Given the description of an element on the screen output the (x, y) to click on. 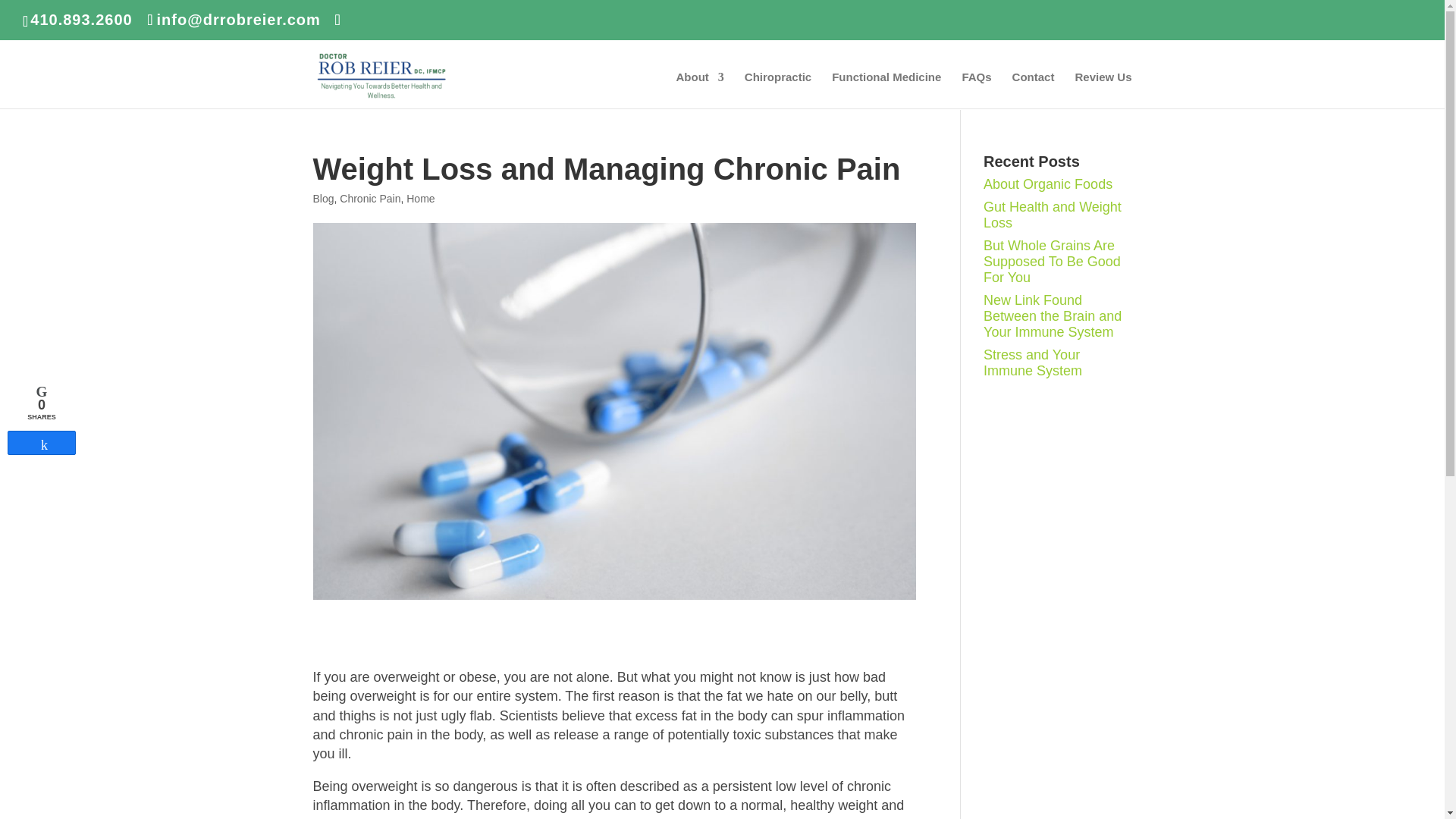
Stress and Your Immune System (1032, 362)
Gut Health and Weight Loss (1052, 214)
Chronic Pain (369, 198)
Review Us (1102, 90)
But Whole Grains Are Supposed To Be Good For You (1052, 261)
Contact (1032, 90)
Blog (323, 198)
Home (419, 198)
410.893.2600 (81, 19)
Chiropractic (777, 90)
About Organic Foods (1048, 183)
About (699, 90)
New Link Found Between the Brain and Your Immune System (1052, 315)
Functional Medicine (885, 90)
